Given the description of an element on the screen output the (x, y) to click on. 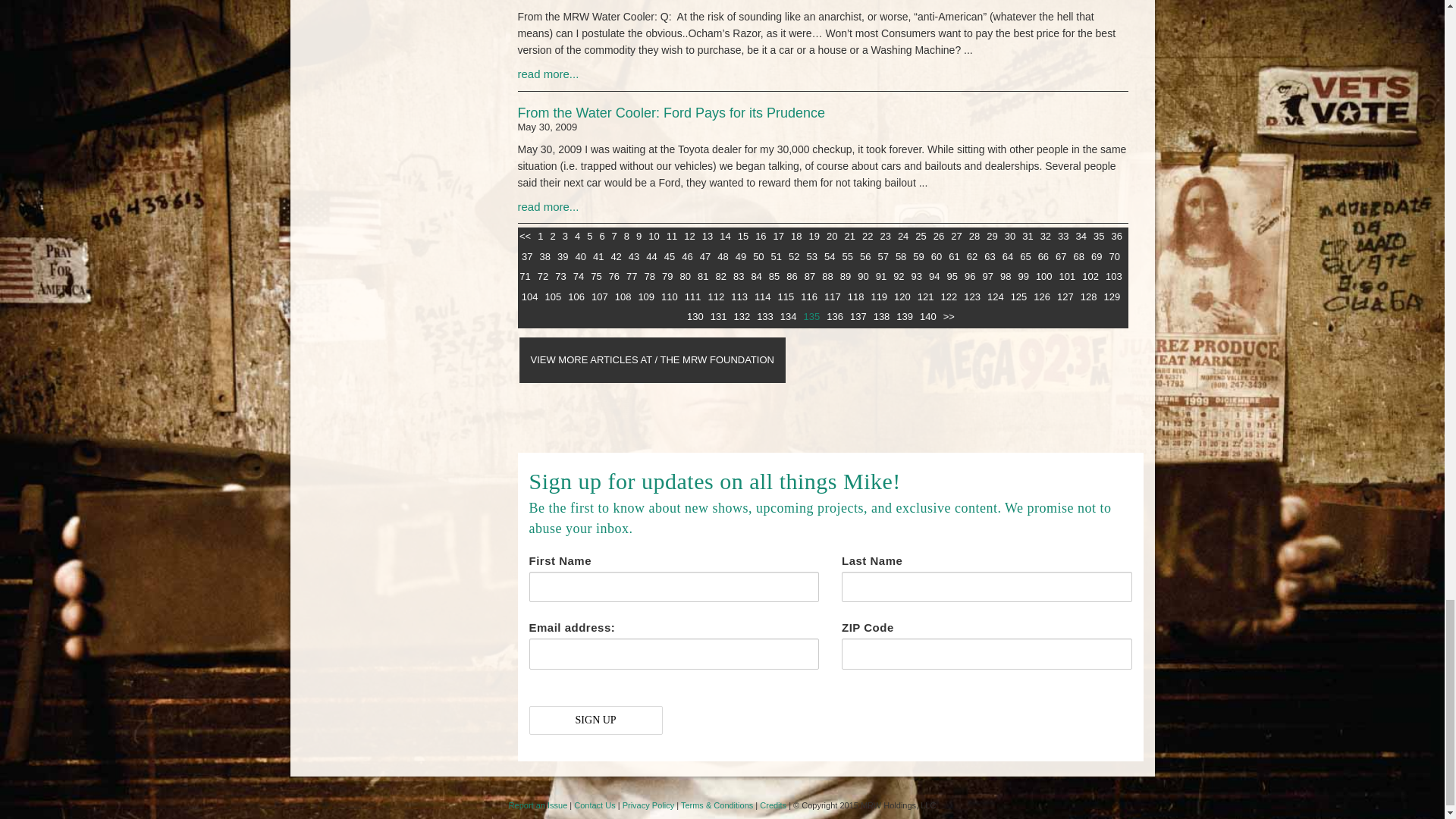
Sign up (595, 719)
